Given the description of an element on the screen output the (x, y) to click on. 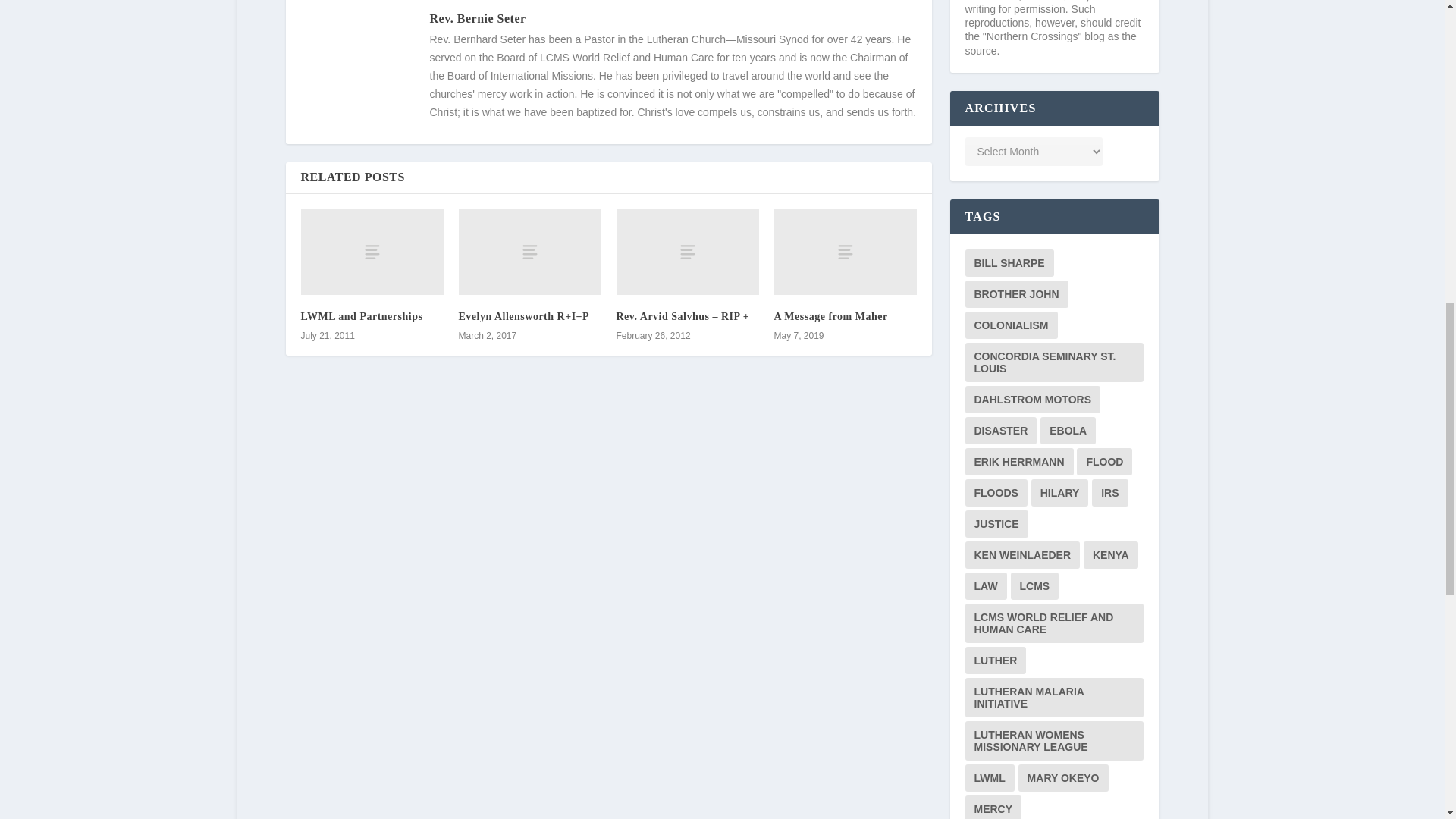
View all posts by Rev. Bernie Seter (477, 18)
A Message from Maher (844, 251)
LWML and Partnerships (370, 251)
LWML and Partnerships (360, 316)
A Message from Maher (829, 316)
Rev. Bernie Seter (477, 18)
